Given the description of an element on the screen output the (x, y) to click on. 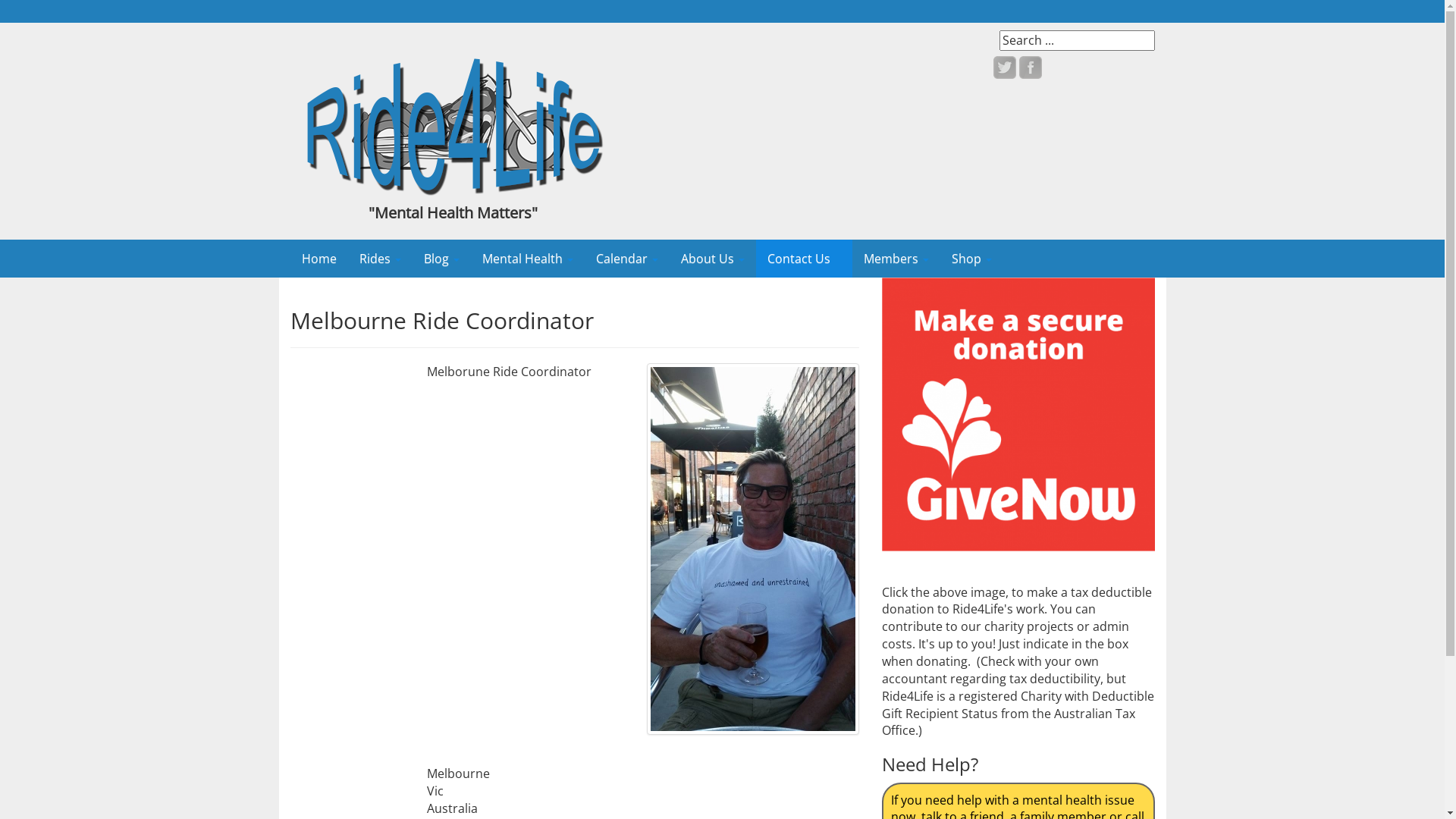
Members Element type: text (896, 258)
Shop Element type: text (971, 258)
Mental Health Element type: text (526, 258)
Calendar Element type: text (625, 258)
About Us Element type: text (711, 258)
Rides Element type: text (379, 258)
Blog Element type: text (441, 258)
Home Element type: text (318, 258)
Contact Us Element type: text (803, 258)
